Given the description of an element on the screen output the (x, y) to click on. 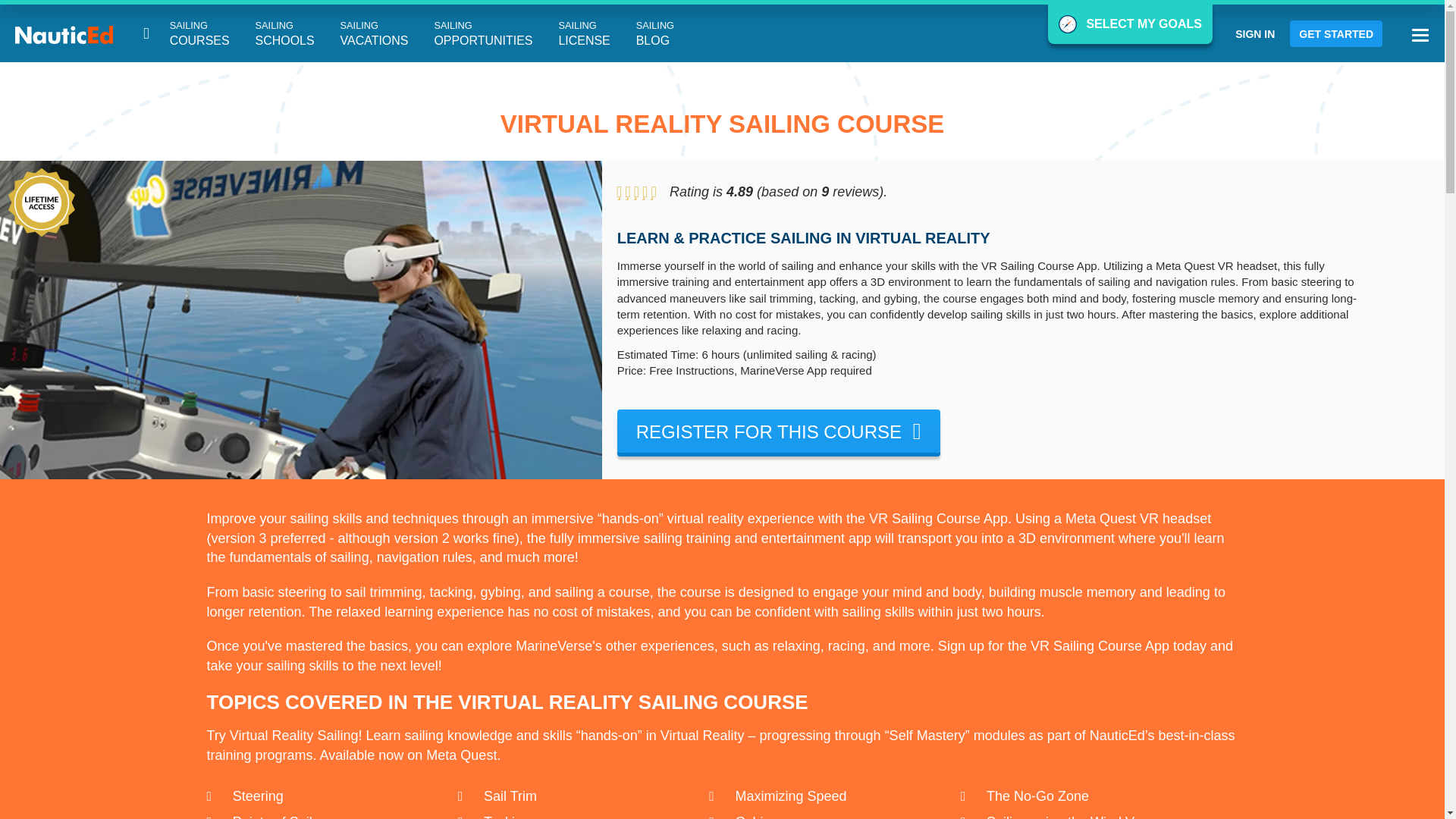
Five Stars (653, 191)
One Star (285, 34)
Three Stars (618, 191)
Lifetime access (636, 191)
SIGN IN (41, 202)
Two Stars (1254, 33)
Four Stars (627, 191)
GET STARTED (482, 34)
REGISTER FOR THIS COURSE (643, 191)
Five Stars (1335, 33)
Four Stars (778, 430)
